Given the description of an element on the screen output the (x, y) to click on. 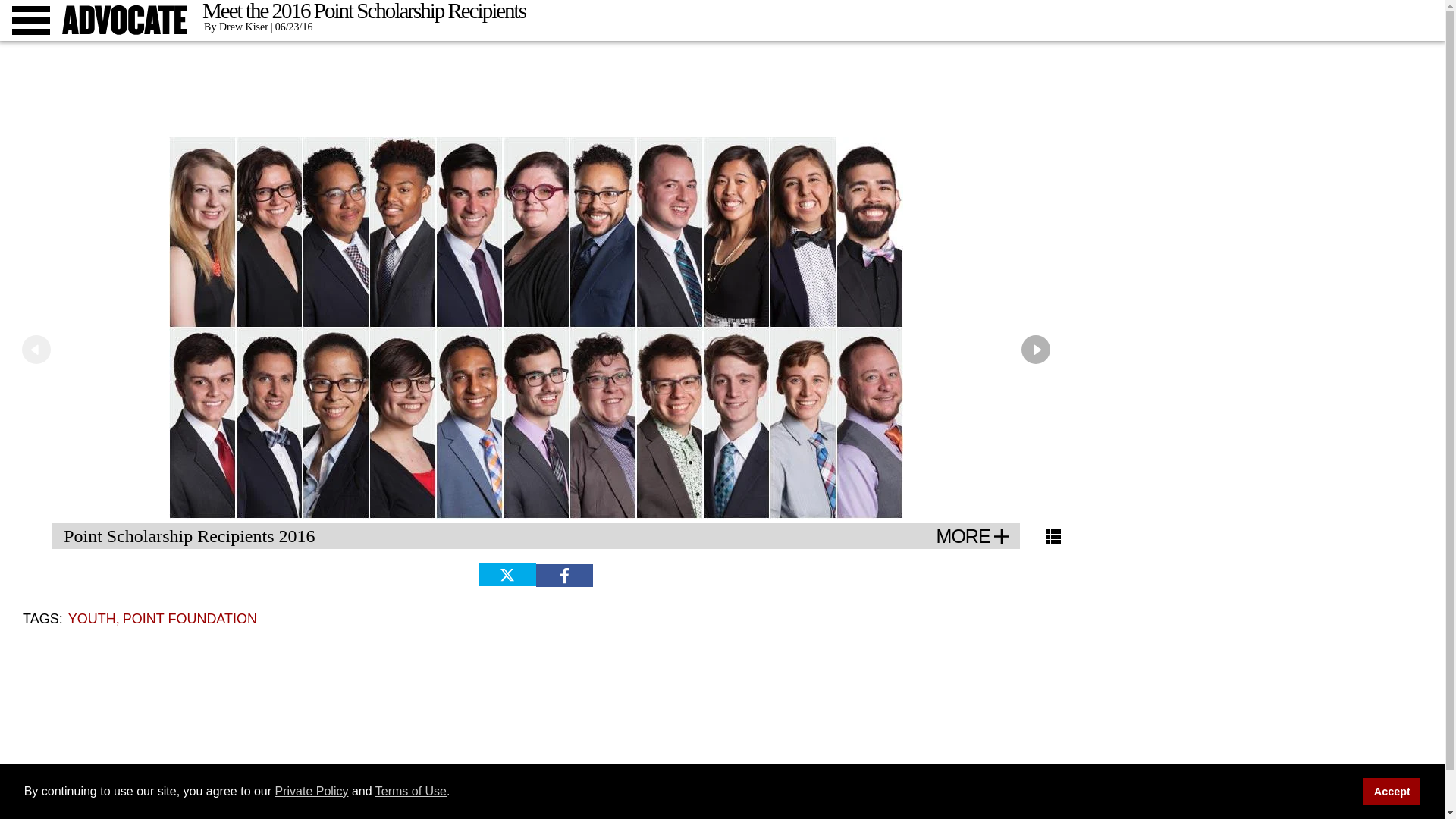
Drew Kiser (235, 27)
Accept (1391, 791)
Private Policy (312, 790)
Terms of Use (410, 790)
3rd party ad content (721, 79)
